Given the description of an element on the screen output the (x, y) to click on. 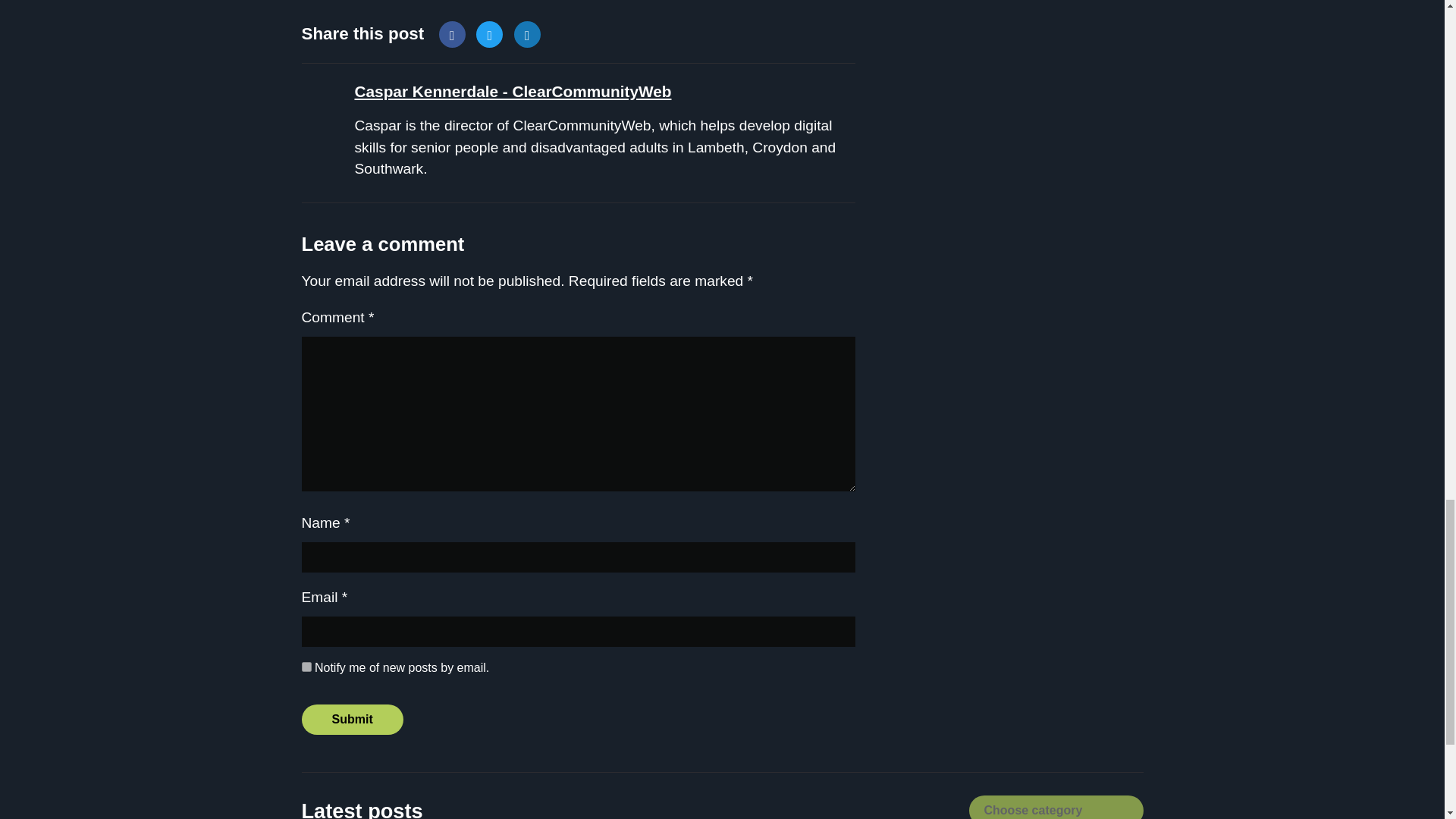
Submit (352, 719)
1 (306, 666)
Submit (352, 719)
Caspar Kennerdale - ClearCommunityWeb (513, 90)
